Given the description of an element on the screen output the (x, y) to click on. 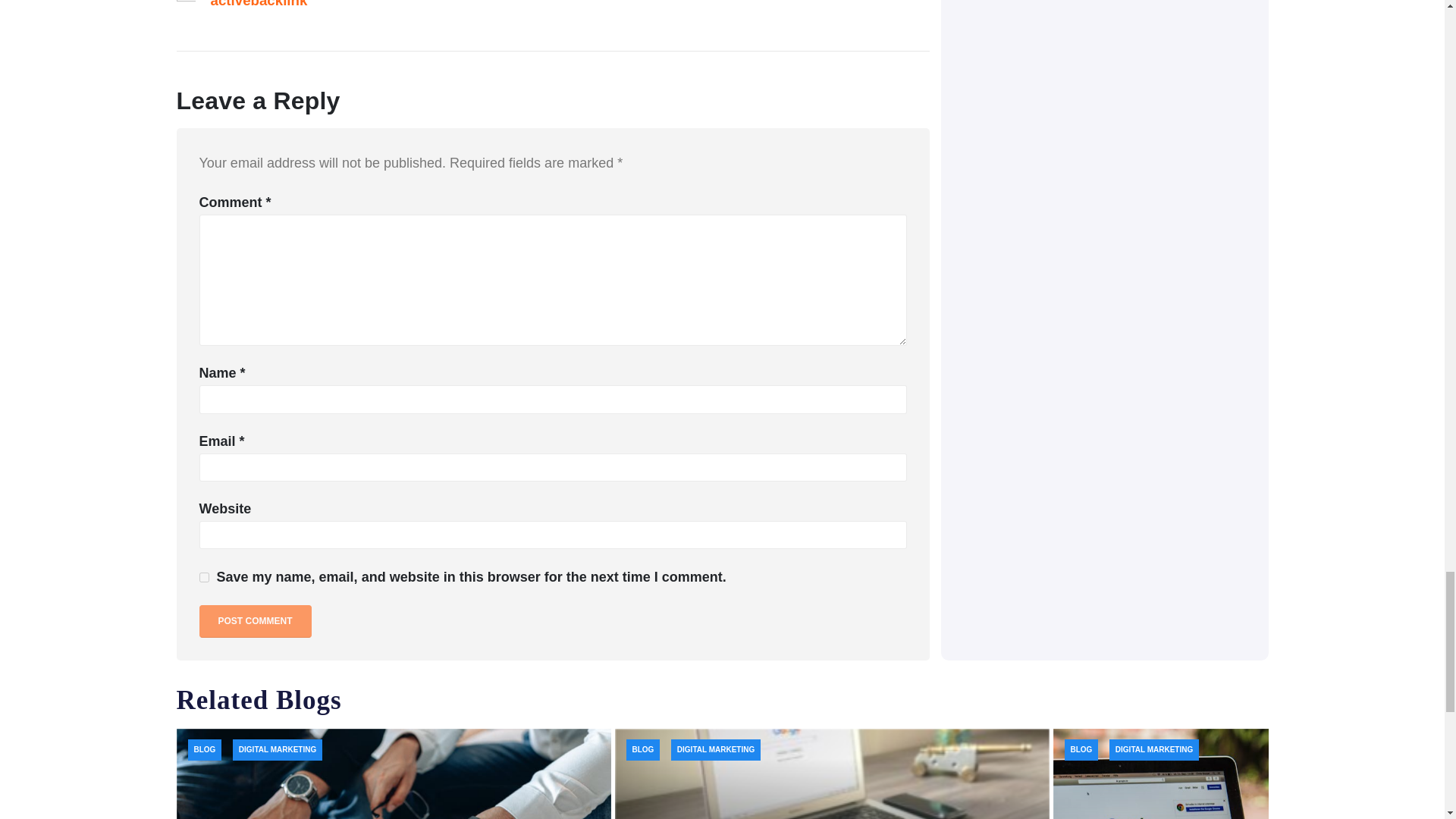
Posts by activebacklink (259, 4)
yes (203, 577)
Post Comment (254, 621)
